Given the description of an element on the screen output the (x, y) to click on. 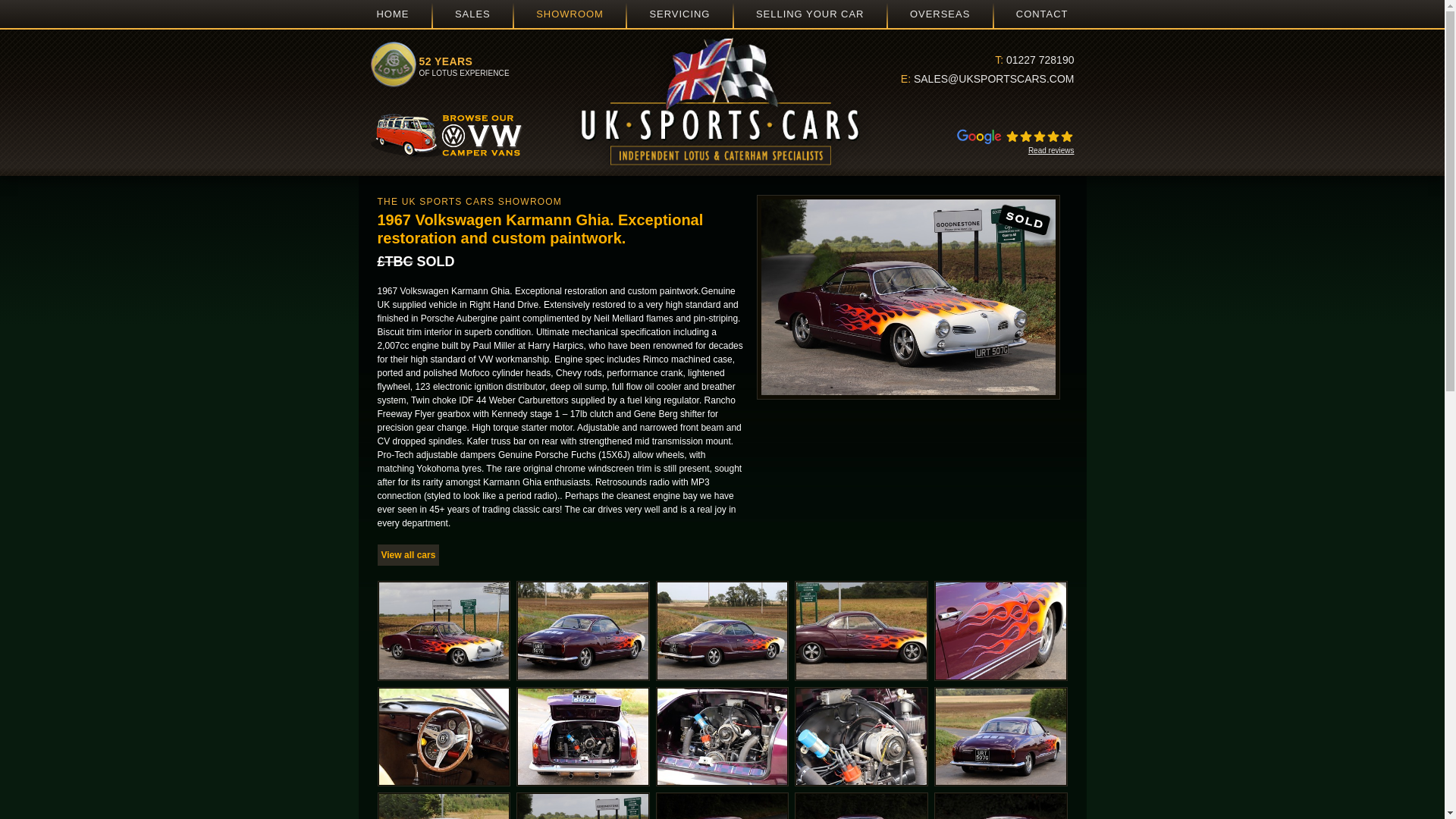
SERVICING (679, 13)
Sales (472, 13)
SHOWROOM (569, 13)
OVERSEAS (939, 13)
Selling your car (810, 13)
View all cars (392, 13)
CONTACT (408, 554)
Showroom (1041, 13)
Contact (569, 13)
Read reviews (1041, 13)
HOME (984, 139)
SELLING YOUR CAR (392, 13)
Overseas (810, 13)
Team (939, 13)
